Given the description of an element on the screen output the (x, y) to click on. 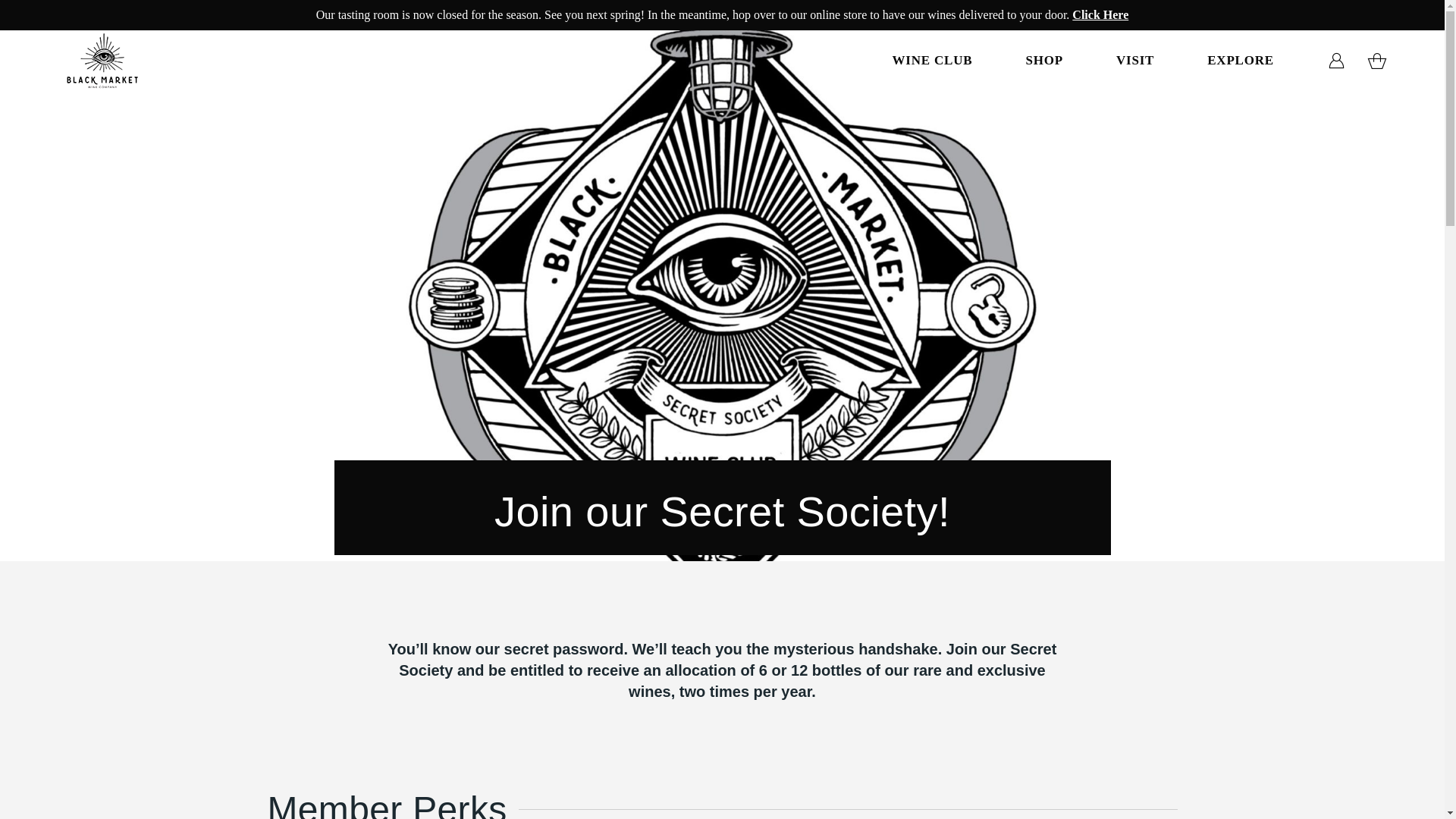
WINE CLUB Element type: text (931, 60)
VISIT Element type: text (1135, 60)
EXPLORE Element type: text (1240, 60)
SHOP Element type: text (1044, 60)
Click Here Element type: text (1100, 14)
